Given the description of an element on the screen output the (x, y) to click on. 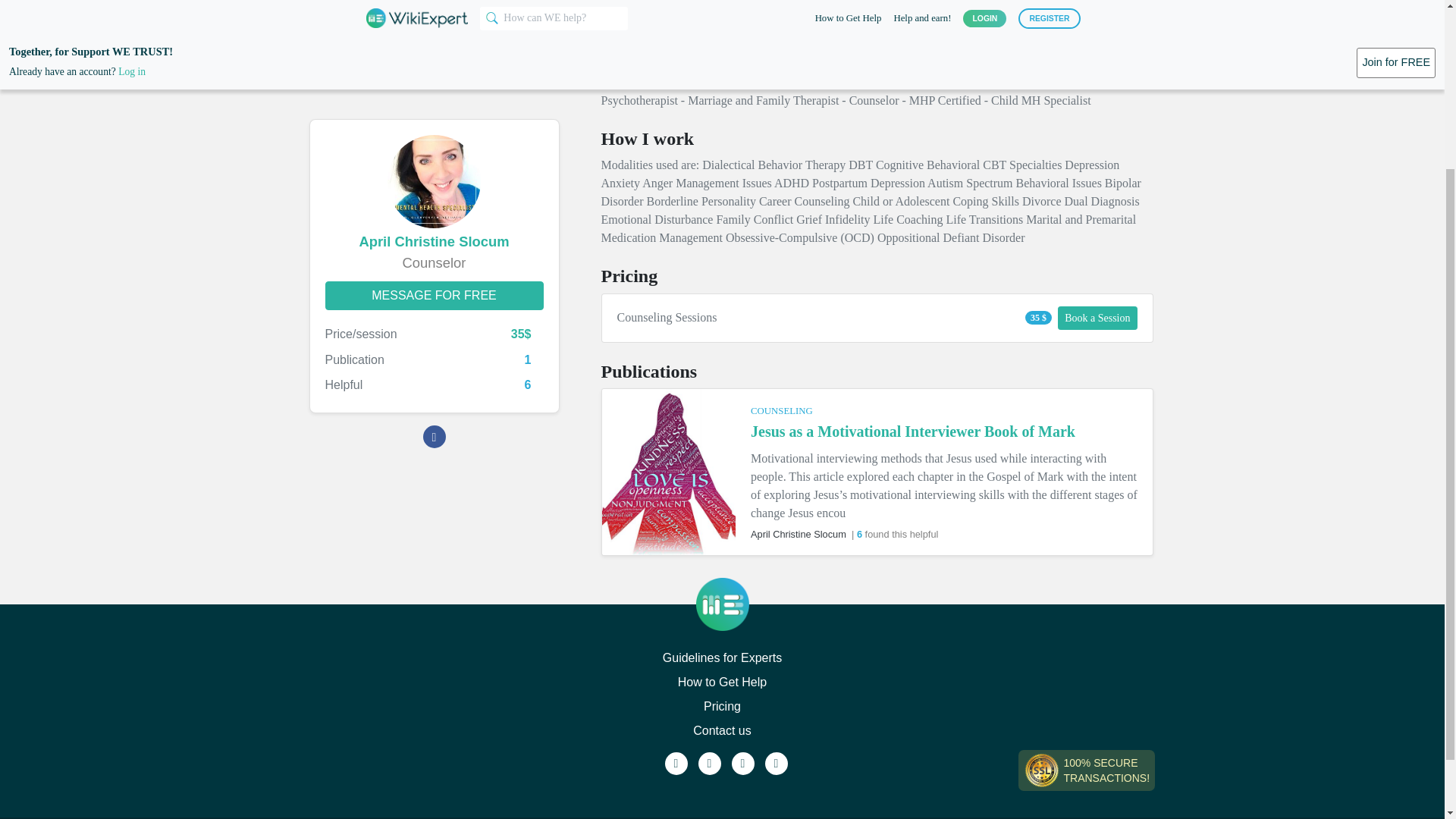
family therapy (635, 35)
MESSAGE FOR FREE (433, 77)
mental health (634, 17)
How to Get Help (721, 682)
Jesus as a Motivational Interviewer Book of Mark (913, 431)
child mental health (892, 17)
couples counseling (720, 17)
Counseling Sessions (809, 317)
anxiety (1025, 17)
Pricing (722, 706)
teen behavior (808, 17)
life coach (703, 35)
Contact us (721, 730)
Book a Session (1097, 318)
April Christine Slocum (433, 23)
